Given the description of an element on the screen output the (x, y) to click on. 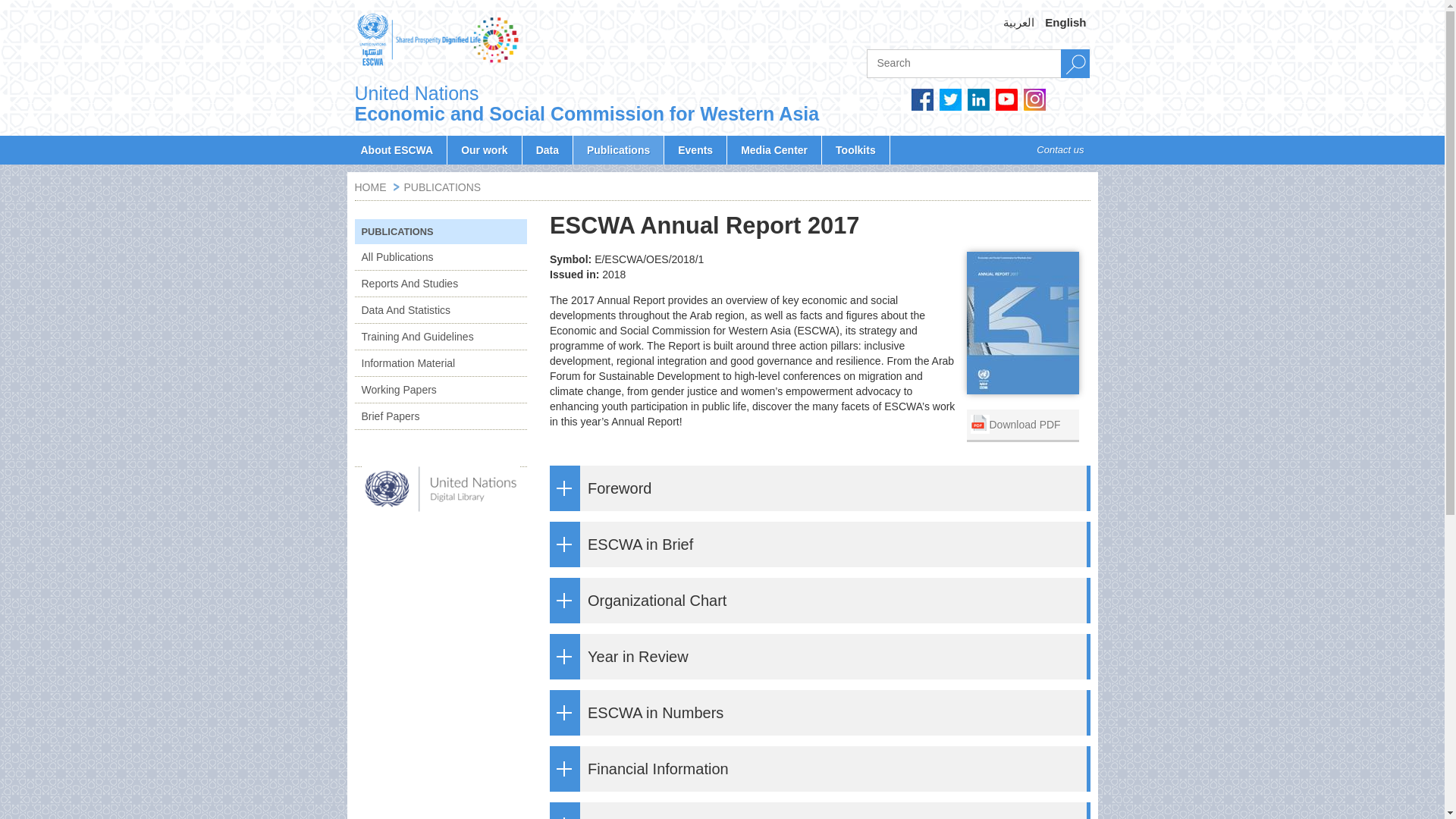
About ESCWA (396, 149)
Search (1075, 63)
Search (1075, 63)
Data (547, 149)
English (1065, 22)
Our work (483, 149)
Publications (618, 149)
